Given the description of an element on the screen output the (x, y) to click on. 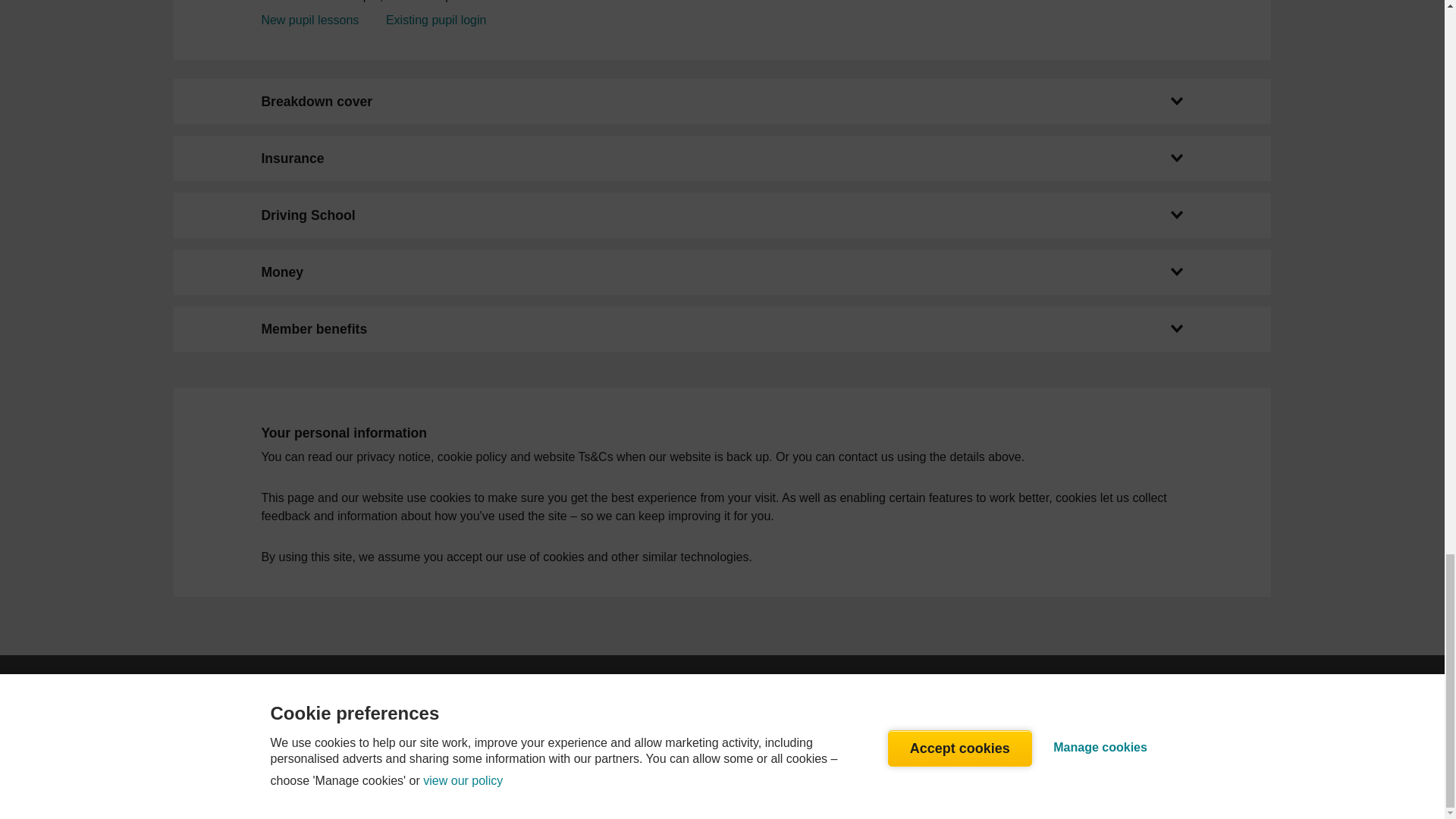
New pupil lessons (309, 20)
AA Press Office (315, 710)
Customer Support team (786, 729)
Existing pupil login (435, 20)
